Given the description of an element on the screen output the (x, y) to click on. 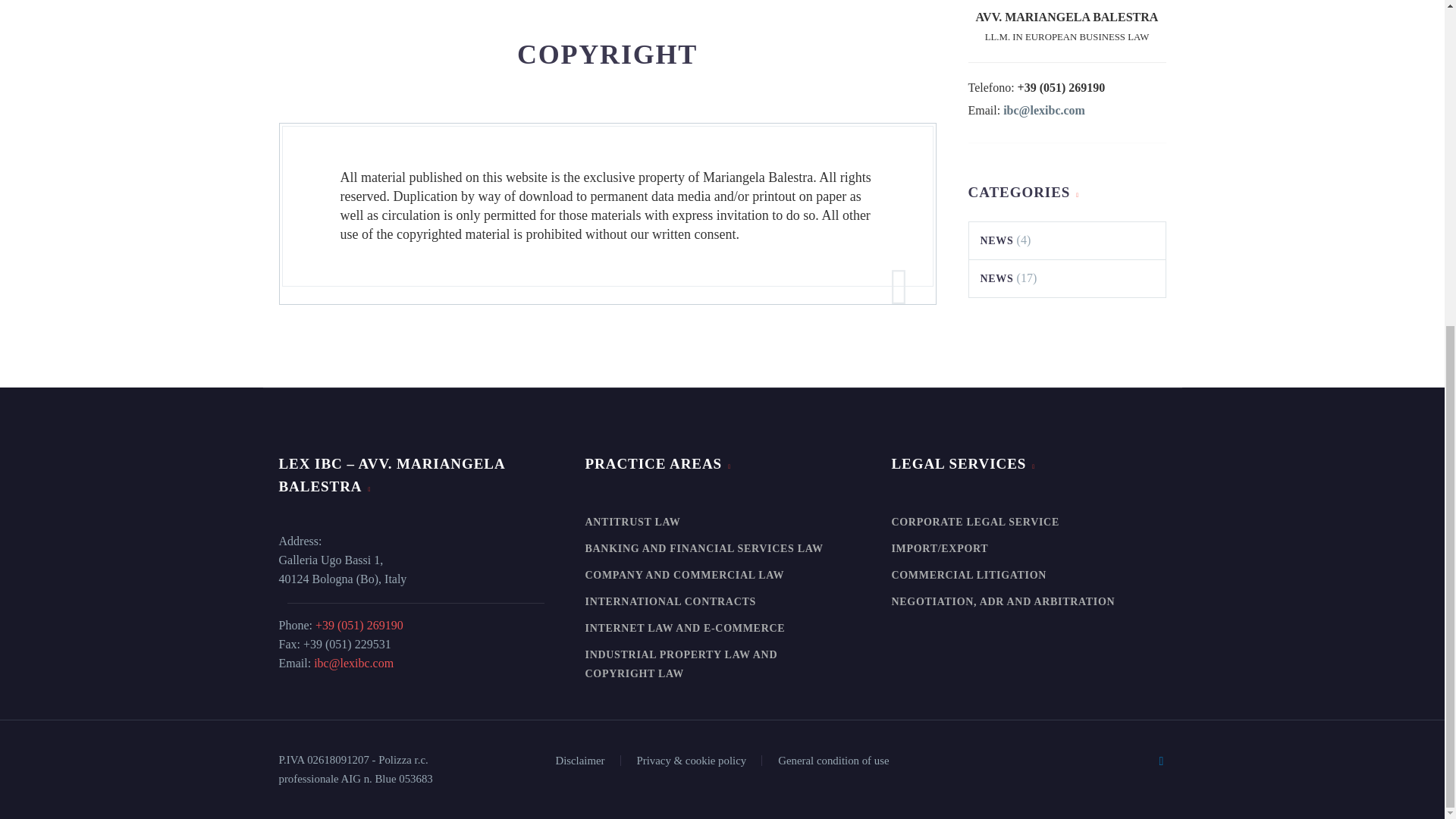
INTERNATIONAL CONTRACTS (722, 601)
INTERNET LAW AND E-COMMERCE (722, 628)
NEWS (996, 278)
INDUSTRIAL PROPERTY LAW AND COPYRIGHT LAW (722, 664)
NEWS (996, 240)
BANKING AND FINANCIAL SERVICES LAW (722, 548)
COMMERCIAL LITIGATION (1028, 574)
ANTITRUST LAW (722, 521)
COMPANY AND COMMERCIAL LAW (722, 574)
CORPORATE LEGAL SERVICE (1028, 521)
